Given the description of an element on the screen output the (x, y) to click on. 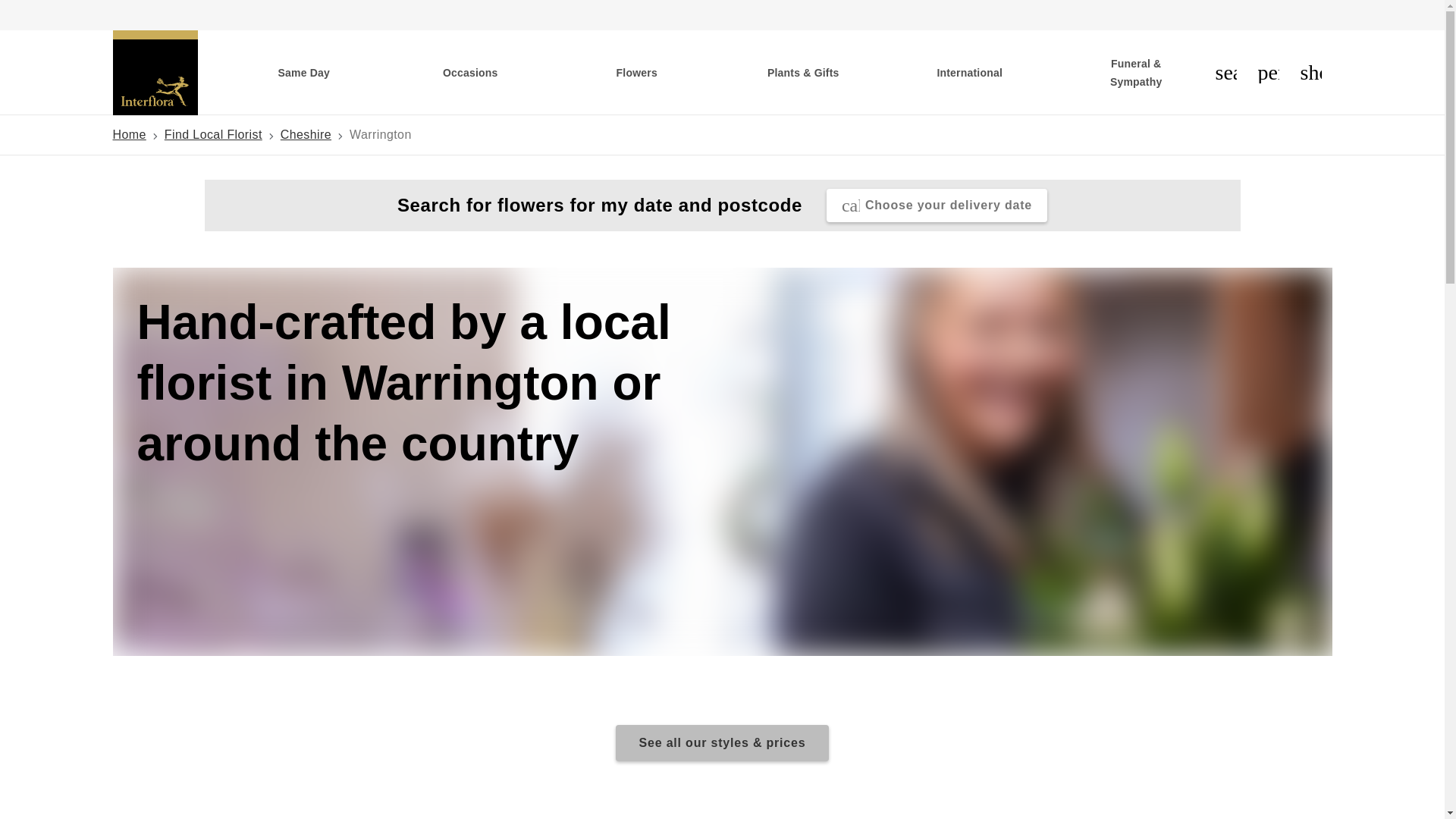
Same Day (304, 72)
